Given the description of an element on the screen output the (x, y) to click on. 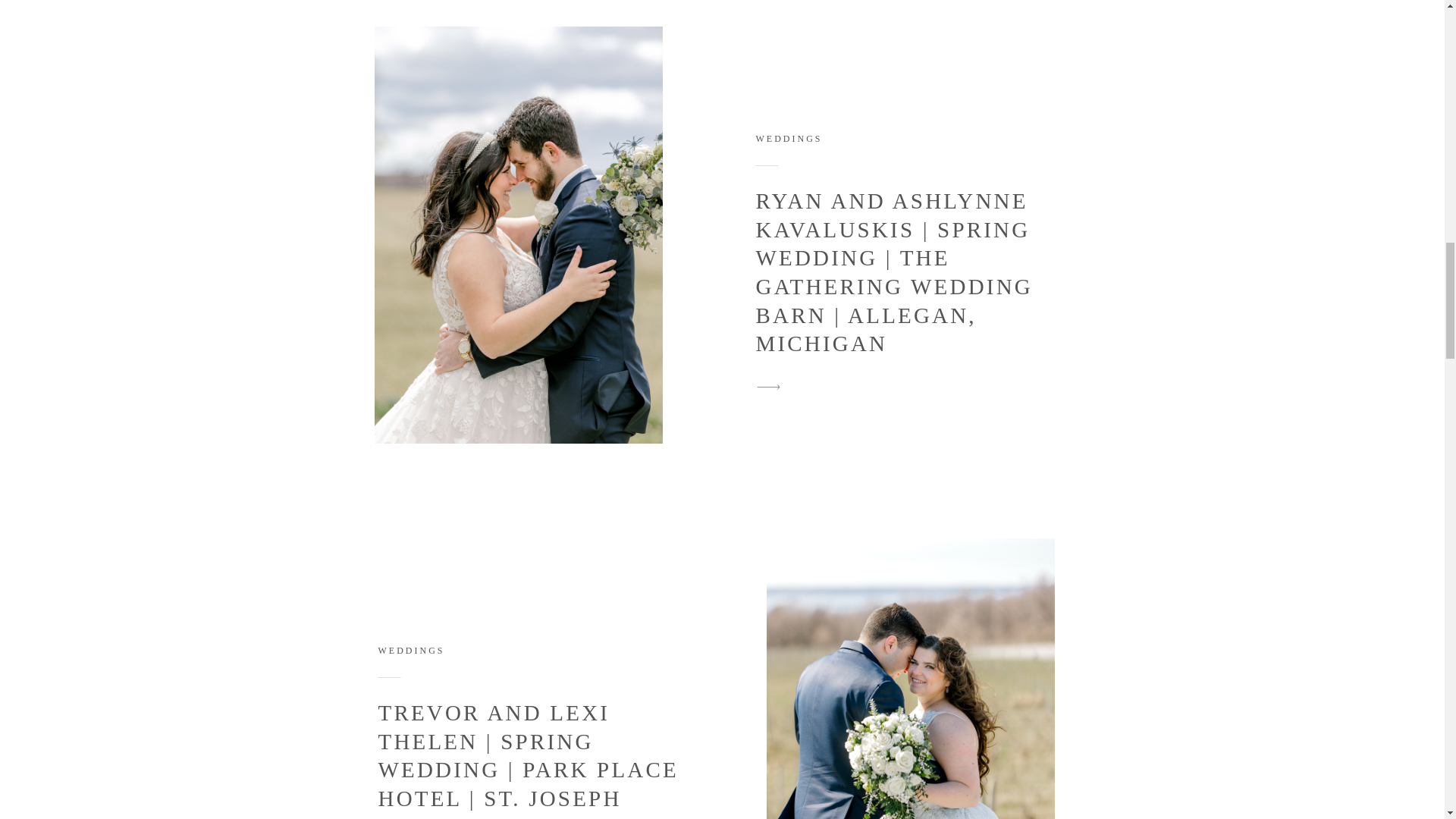
arrow (768, 386)
